Given the description of an element on the screen output the (x, y) to click on. 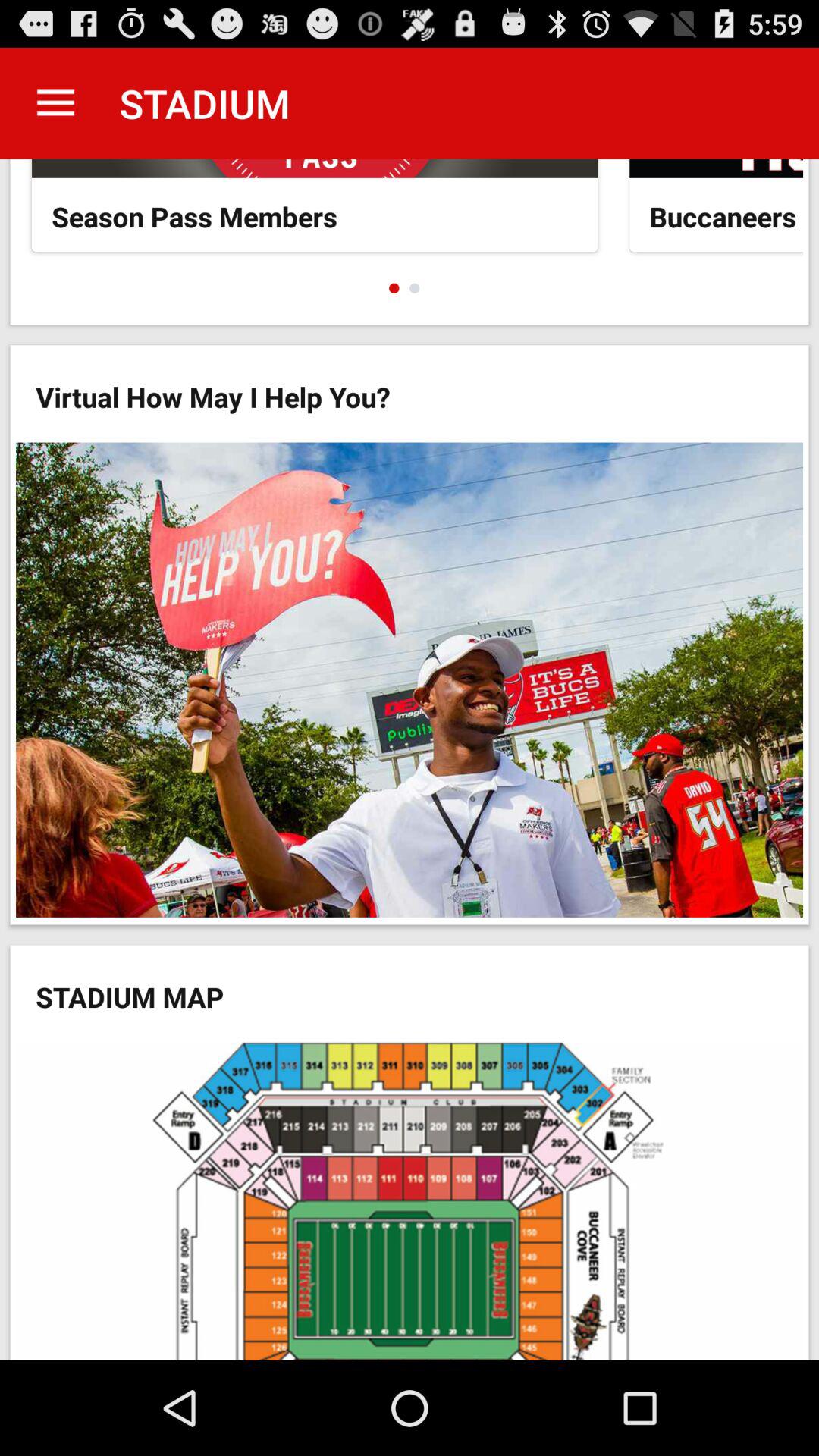
turn off the icon next to stadium (55, 103)
